Given the description of an element on the screen output the (x, y) to click on. 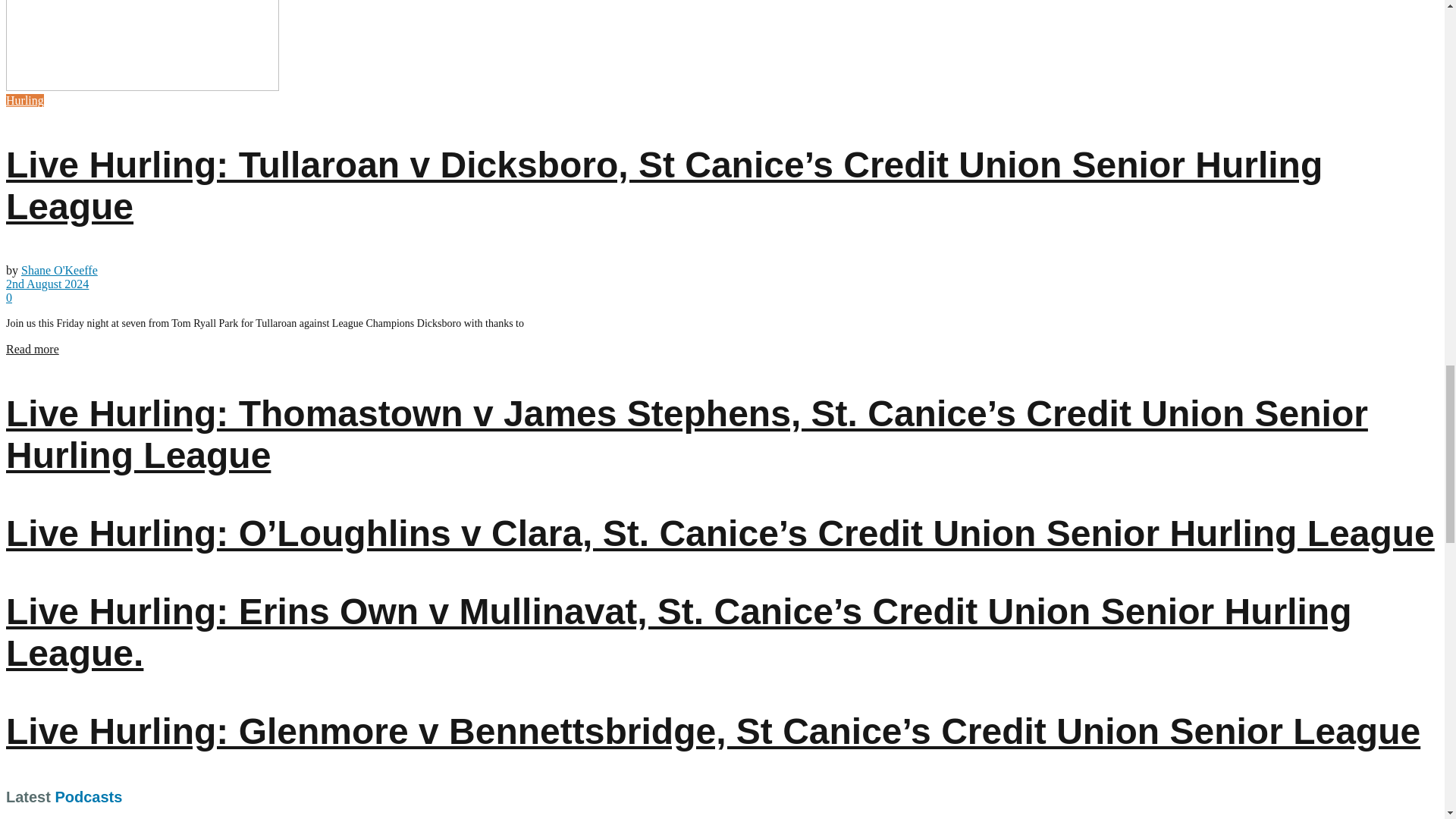
0 (8, 297)
Shane O'Keeffe (59, 269)
Read more (32, 349)
Hurling (24, 100)
2nd August 2024 (46, 283)
